Given the description of an element on the screen output the (x, y) to click on. 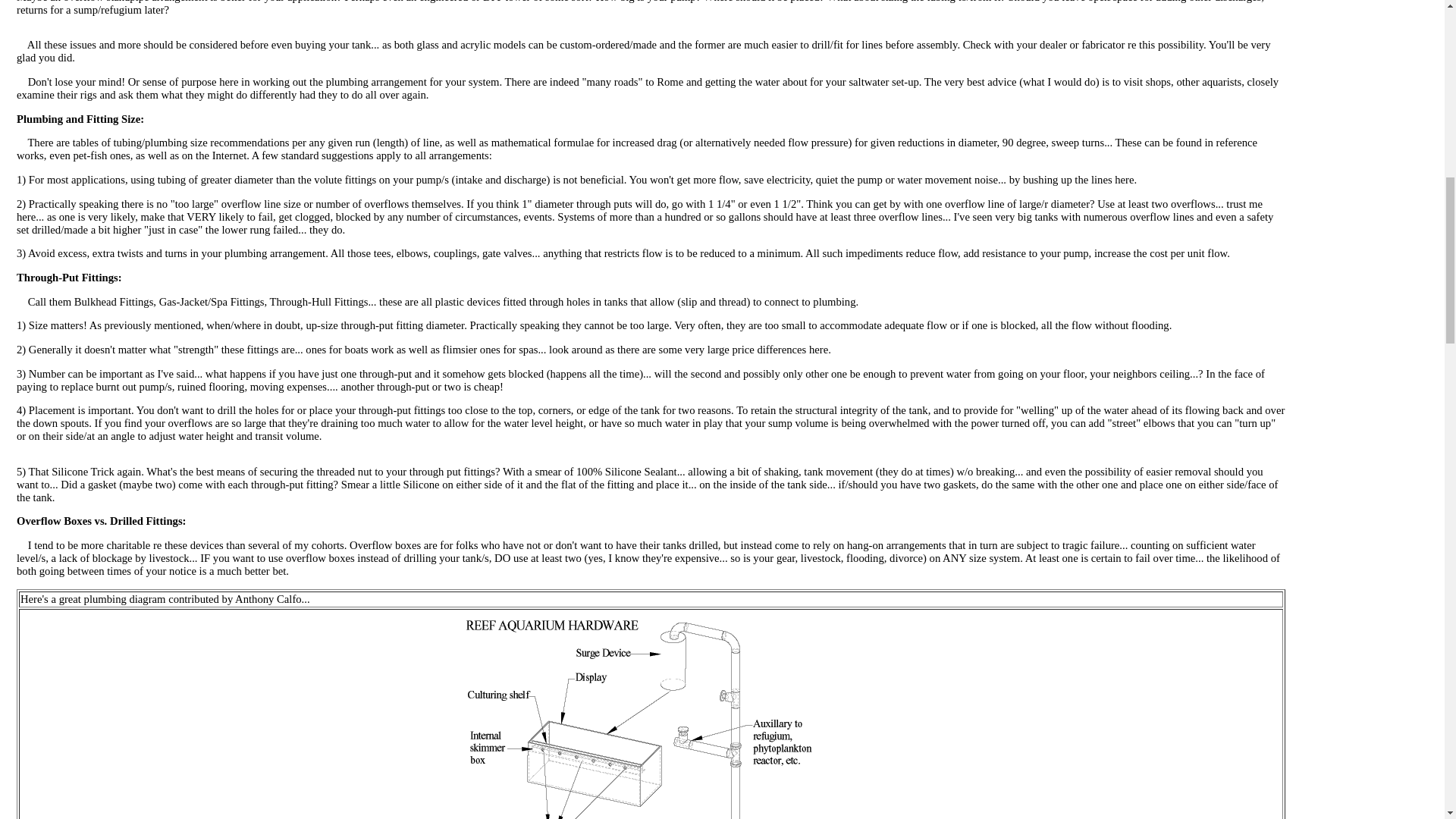
Advertisement (1361, 45)
